Given the description of an element on the screen output the (x, y) to click on. 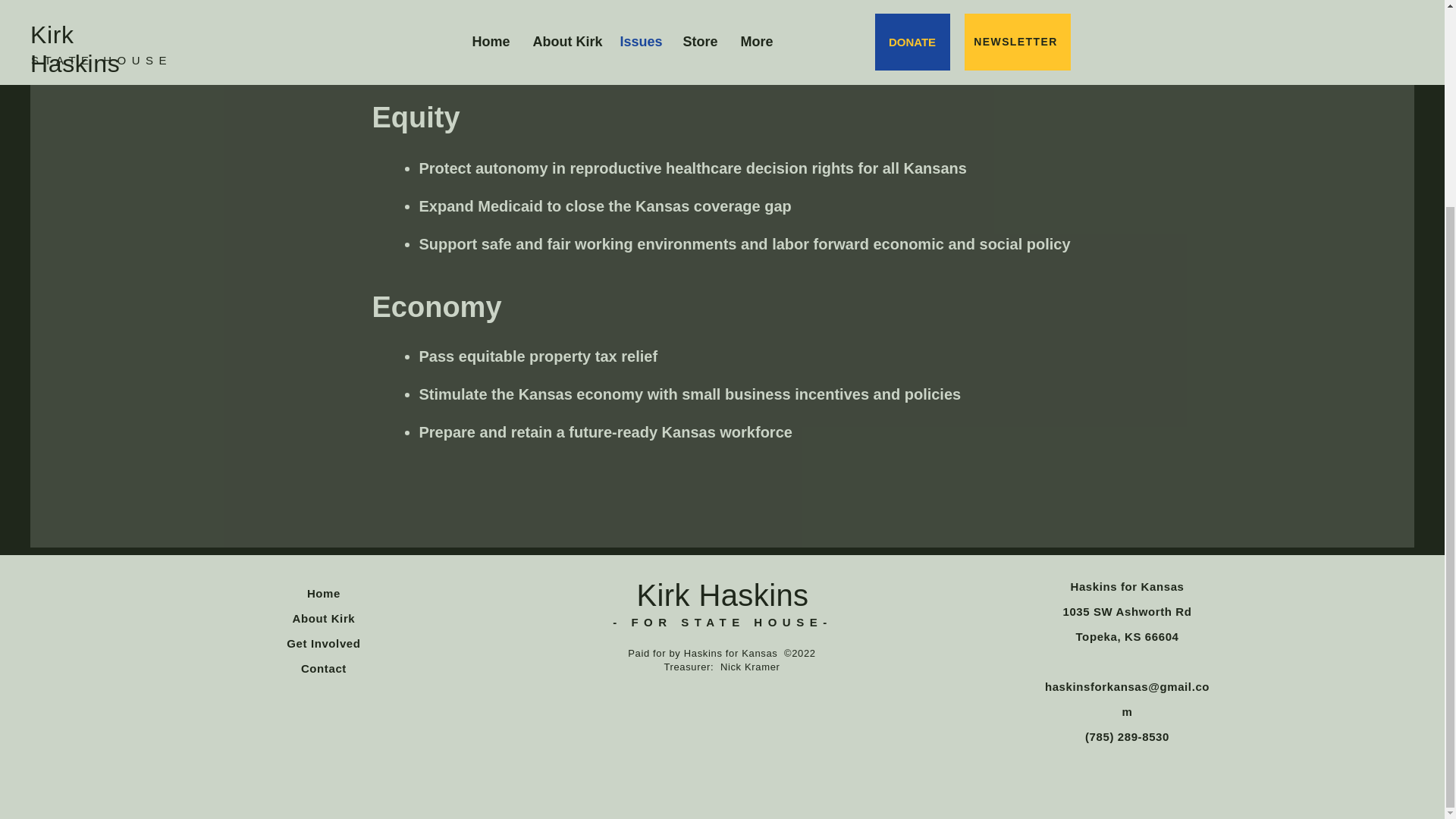
About Kirk (323, 617)
Get Involved (322, 643)
Contact (323, 667)
Home (323, 593)
